Given the description of an element on the screen output the (x, y) to click on. 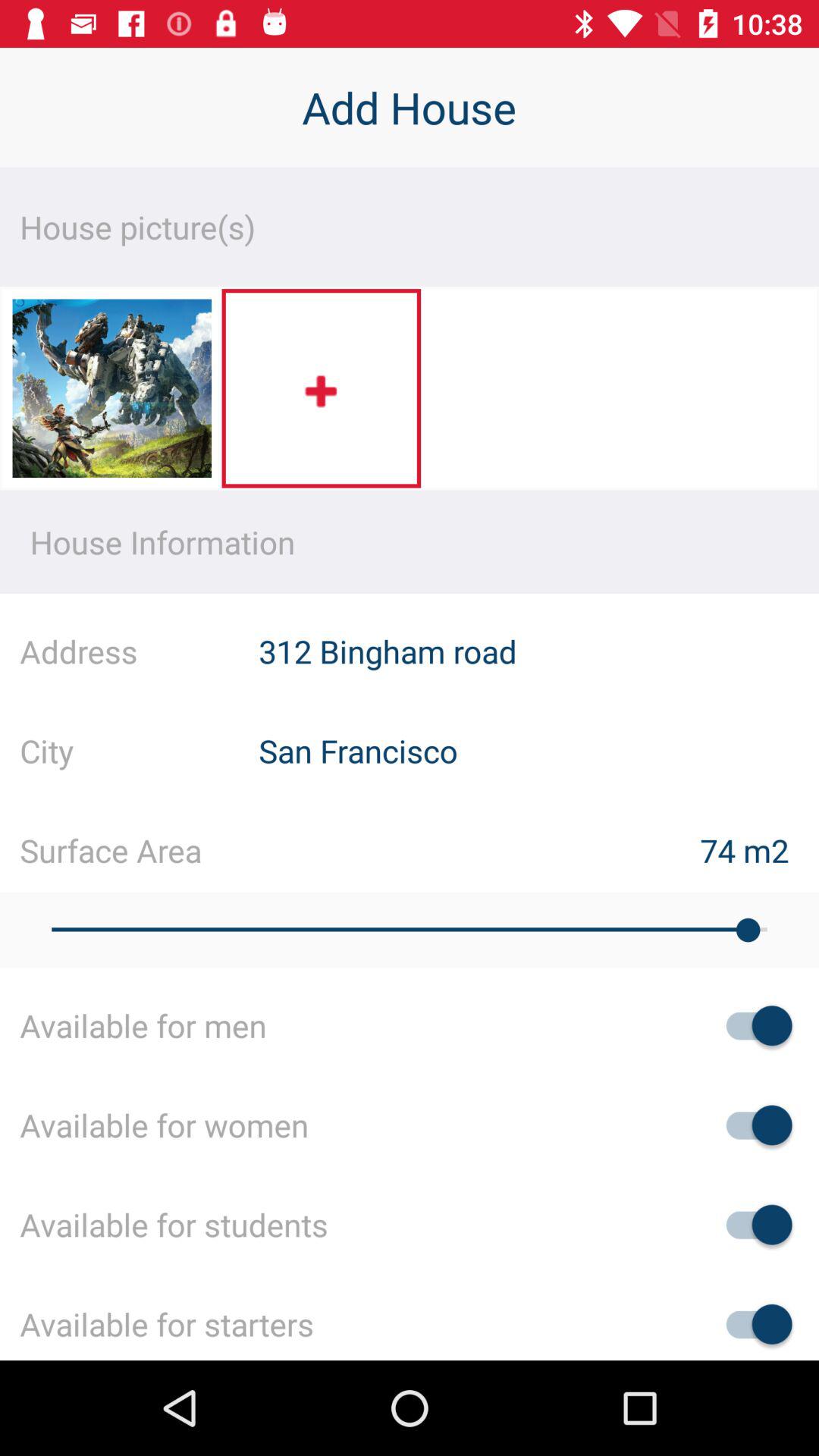
add picture (320, 387)
